Given the description of an element on the screen output the (x, y) to click on. 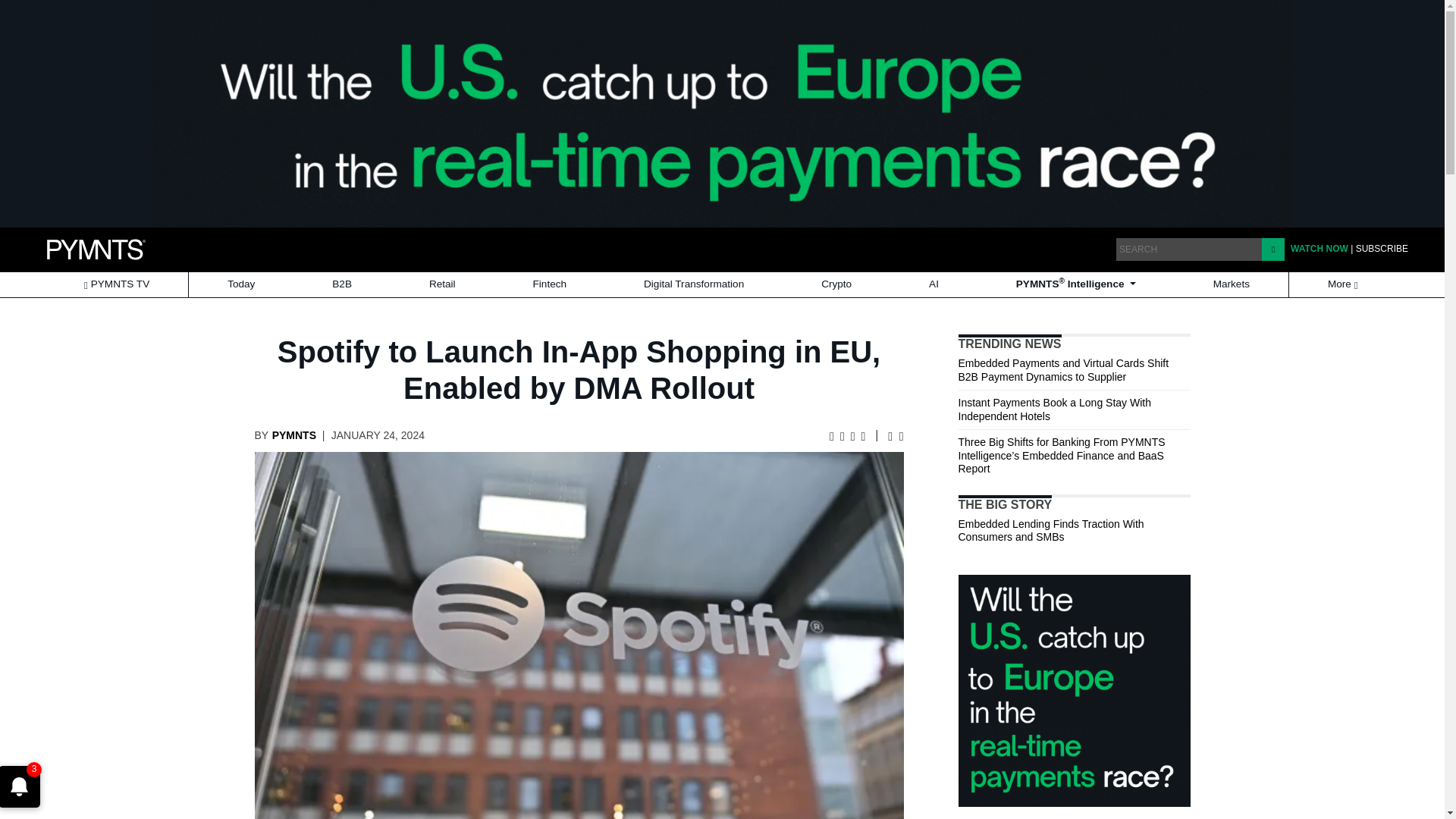
Retail (442, 284)
 PYMNTS TV (116, 284)
SUBSCRIBE (1381, 248)
More  (1343, 284)
Digital Transformation (694, 284)
Crypto (836, 284)
B2B (342, 284)
Fintech (550, 284)
Posts by PYMNTS (293, 435)
Today (241, 284)
AI (932, 284)
Markets (1231, 284)
WATCH NOW (1319, 248)
